Given the description of an element on the screen output the (x, y) to click on. 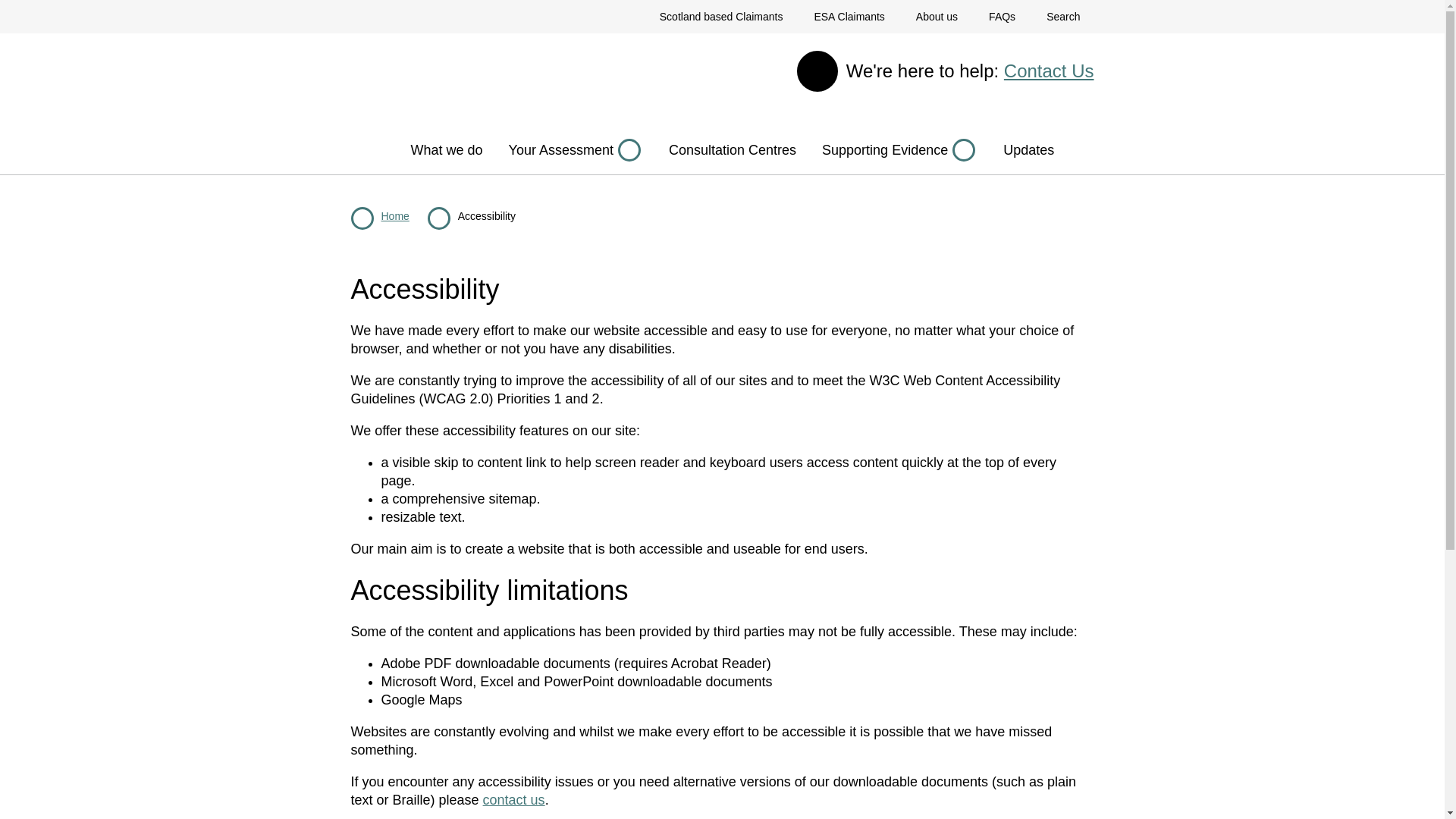
Contact Us (1049, 70)
Contact Us (1049, 70)
Your Assessment (576, 150)
Accessibility (486, 215)
Consultation Centres (732, 150)
Search (1062, 16)
Independent Assessment Services logo (393, 79)
Supporting Evidence (899, 150)
Scotland based Claimants (721, 16)
What we do (446, 150)
Home (394, 215)
contact us (513, 799)
FAQs (1002, 16)
ESA Claimants (848, 16)
About us (936, 16)
